Given the description of an element on the screen output the (x, y) to click on. 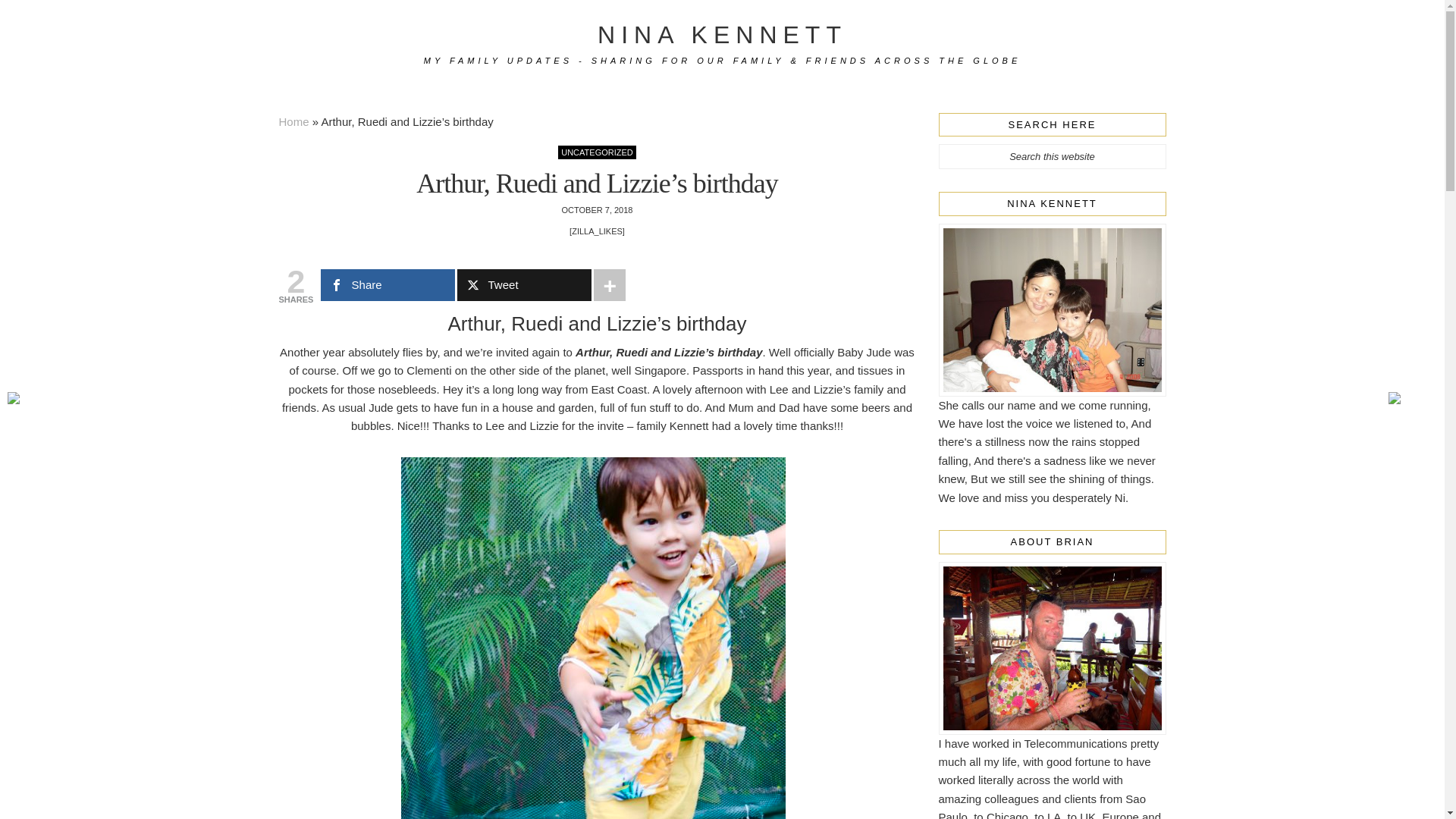
NINA KENNETT (721, 34)
Share (387, 285)
Tweet (524, 285)
Home (293, 121)
UNCATEGORIZED (596, 151)
